Given the description of an element on the screen output the (x, y) to click on. 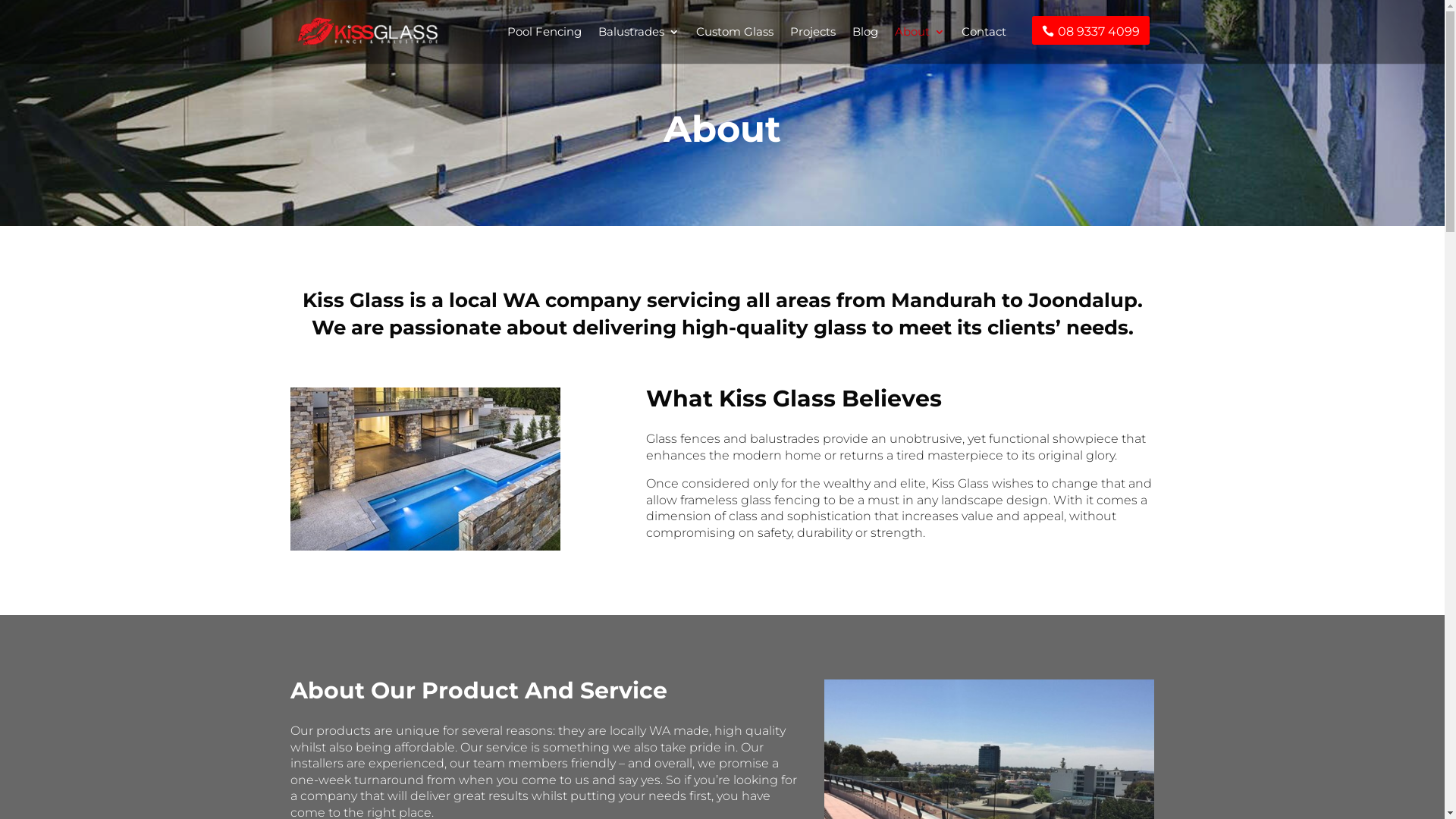
Balustrades Element type: text (637, 44)
Contact Element type: text (983, 44)
Custom Glass Element type: text (734, 44)
08 9337 4099 Element type: text (1090, 43)
Projects Element type: text (812, 44)
Pool Fencing Element type: text (543, 44)
Blog Element type: text (865, 44)
About Element type: text (919, 44)
